Given the description of an element on the screen output the (x, y) to click on. 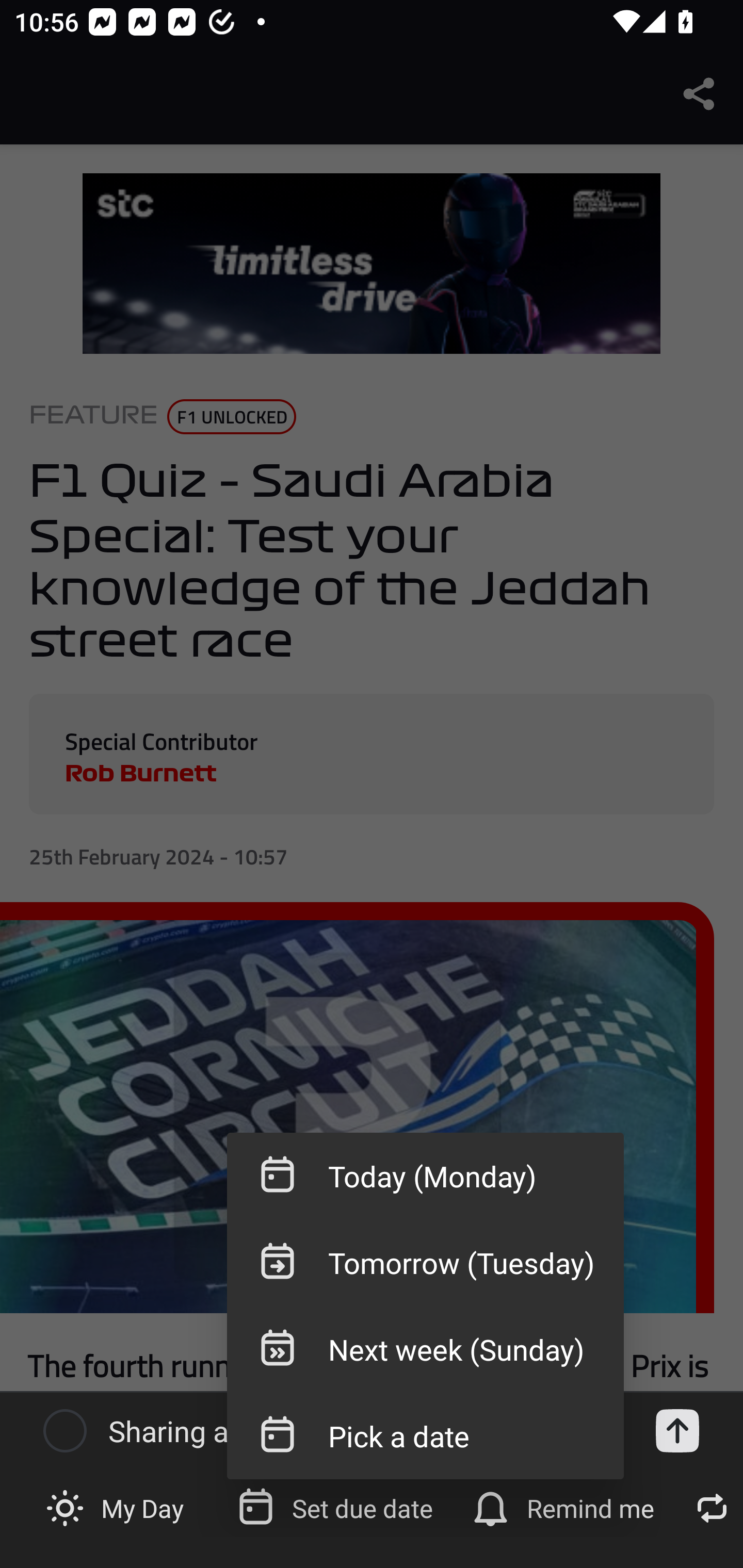
Today (Monday)1 in 4 Today (Monday) (425, 1175)
Tomorrow (Tuesday)2 in 4 Tomorrow (Tuesday) (425, 1262)
Next week (Sunday)3 in 4 Next week (Sunday) (425, 1349)
Pick a date4 in 4 Pick a date (425, 1435)
